Given the description of an element on the screen output the (x, y) to click on. 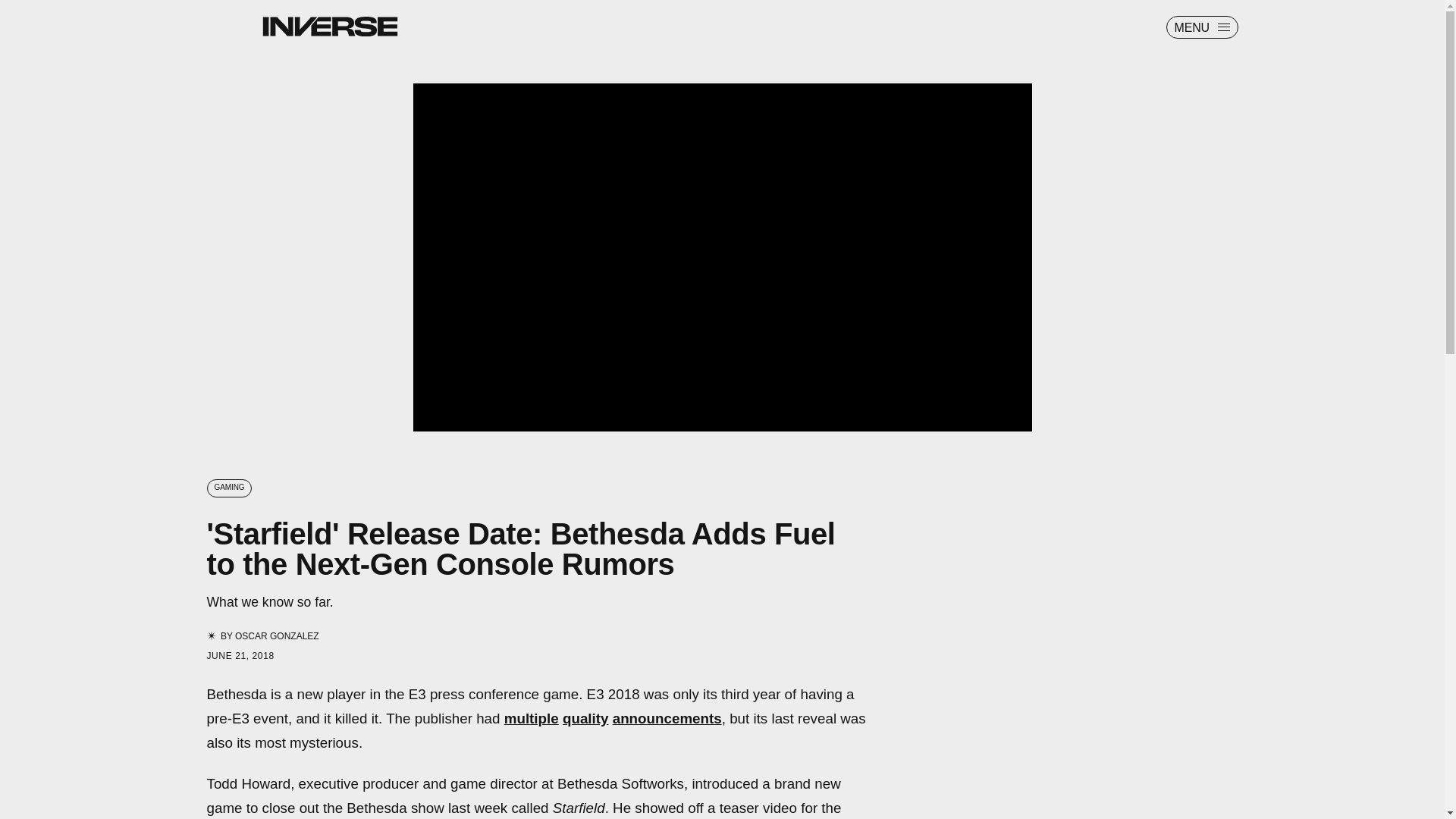
announcements (667, 718)
Inverse (328, 26)
multiple (531, 718)
OSCAR GONZALEZ (276, 635)
quality (585, 718)
